Given the description of an element on the screen output the (x, y) to click on. 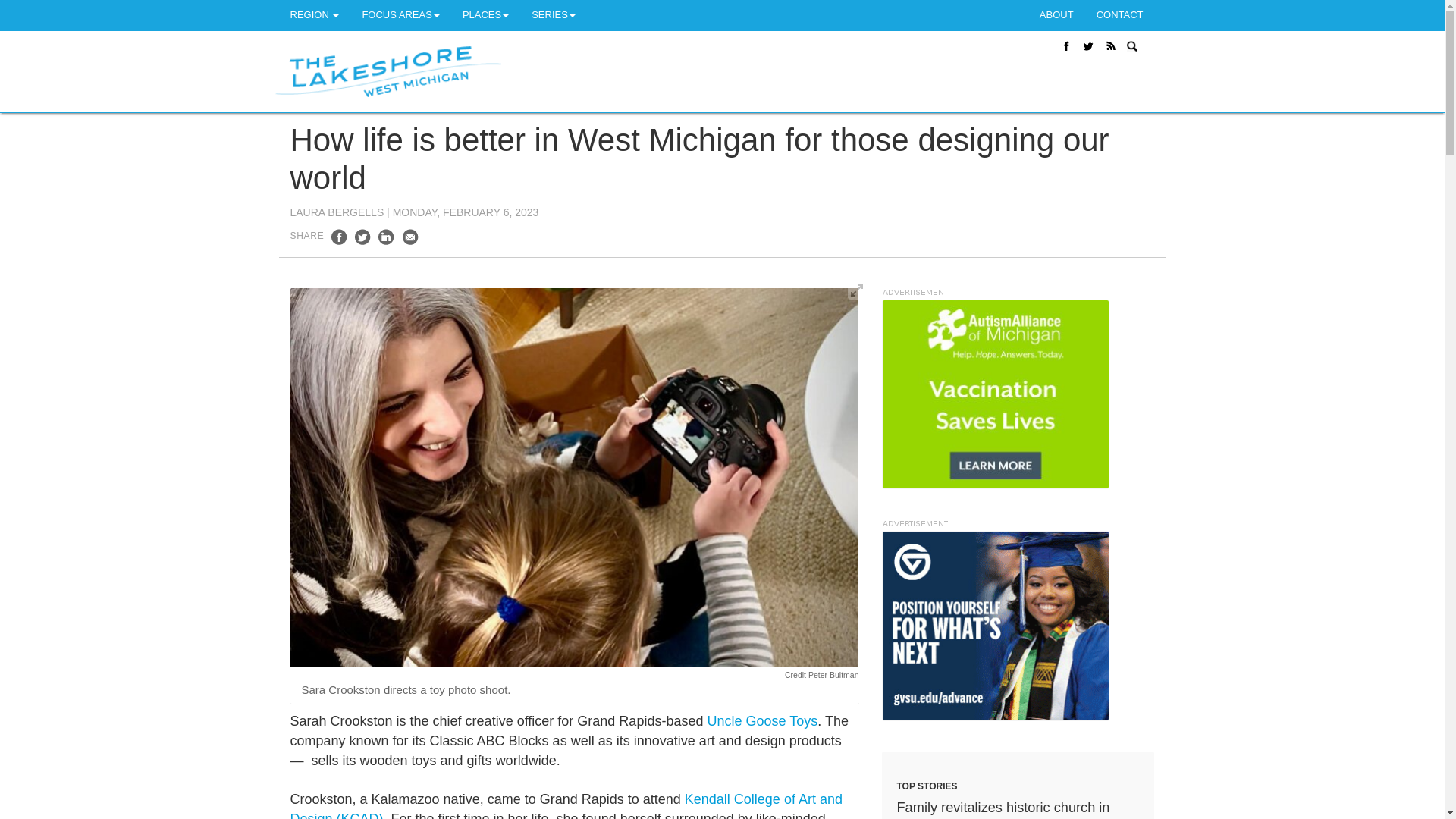
FOCUS AREAS (399, 15)
View full-screen (856, 290)
REGION (314, 15)
Subscribe to the Lakeshore RSS feed! (1111, 45)
PLACES (485, 15)
Grand Valley State University  (994, 625)
